Given the description of an element on the screen output the (x, y) to click on. 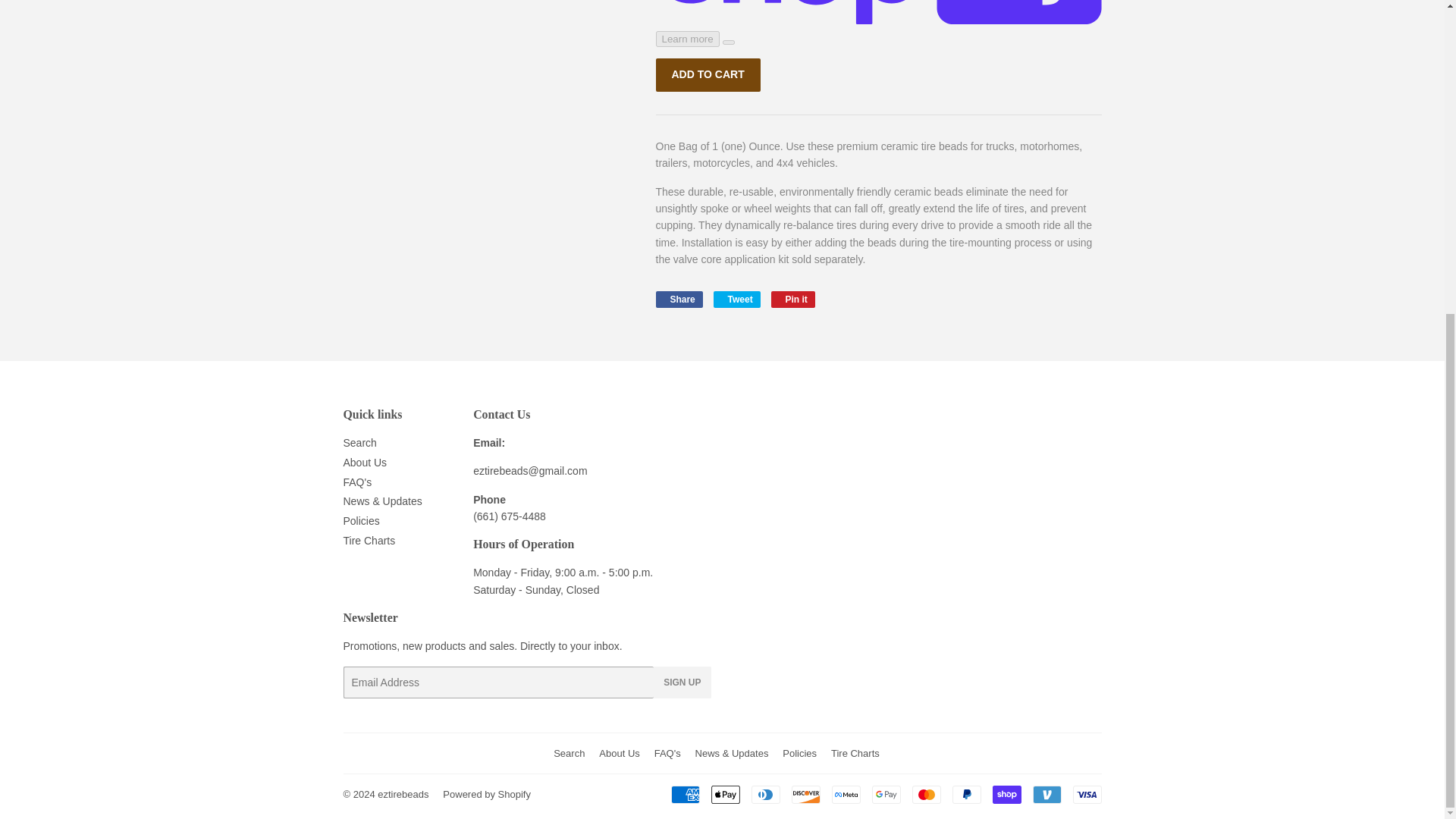
Visa (1085, 794)
Diners Club (764, 794)
Share on Facebook (678, 299)
Mastercard (925, 794)
American Express (683, 794)
Apple Pay (725, 794)
Discover (806, 794)
Venmo (1046, 794)
PayPal (966, 794)
Shop Pay (1005, 794)
Google Pay (886, 794)
Tweet on Twitter (736, 299)
Pin on Pinterest (793, 299)
Meta Pay (845, 794)
